Given the description of an element on the screen output the (x, y) to click on. 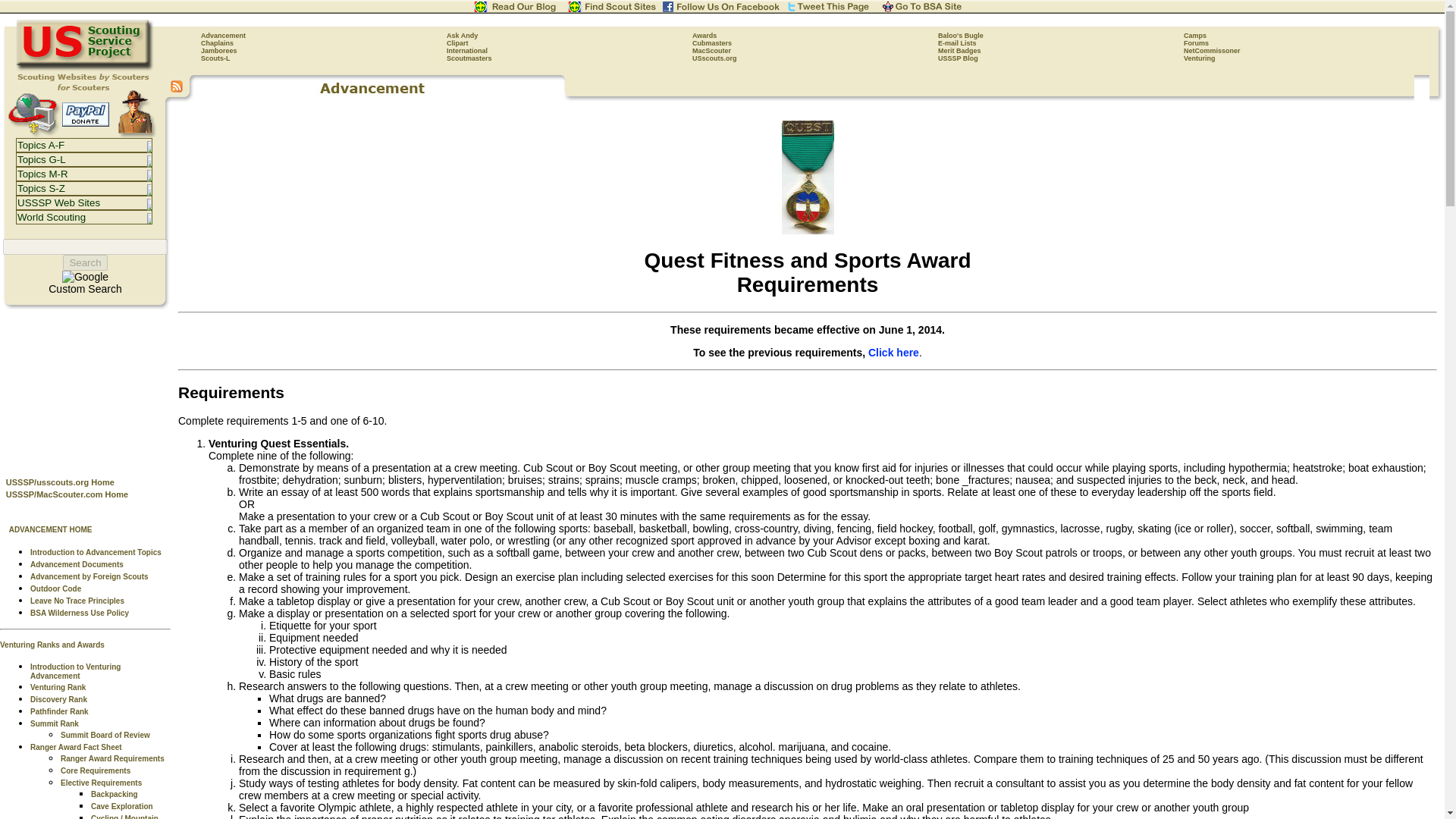
Ask Andy (461, 35)
Access Key B: Advancement for All Phases of Scouting (223, 35)
MacScouter (711, 50)
Jamborees (218, 50)
Awards (704, 35)
Leave No Trace Principles (76, 601)
International (466, 50)
Skip Navigation (185, 23)
Access Key C: Ask Andy Advice Column (461, 35)
Access Key M: International and World Scouting (466, 50)
Scoutmasters (469, 58)
Forums (1195, 42)
Baloo's Bugle (960, 35)
